Given the description of an element on the screen output the (x, y) to click on. 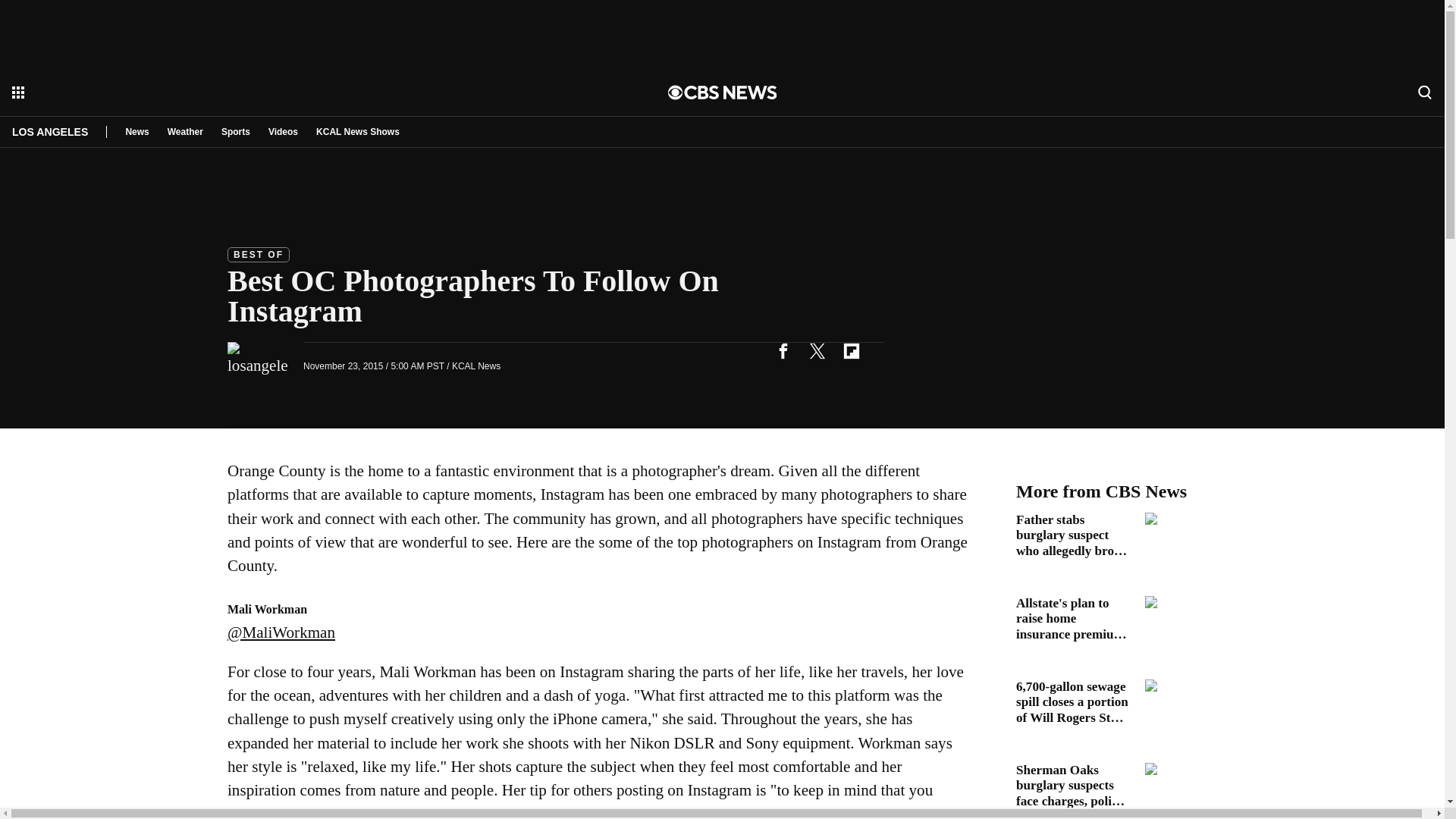
twitter (816, 350)
flipboard (850, 350)
facebook (782, 350)
